Given the description of an element on the screen output the (x, y) to click on. 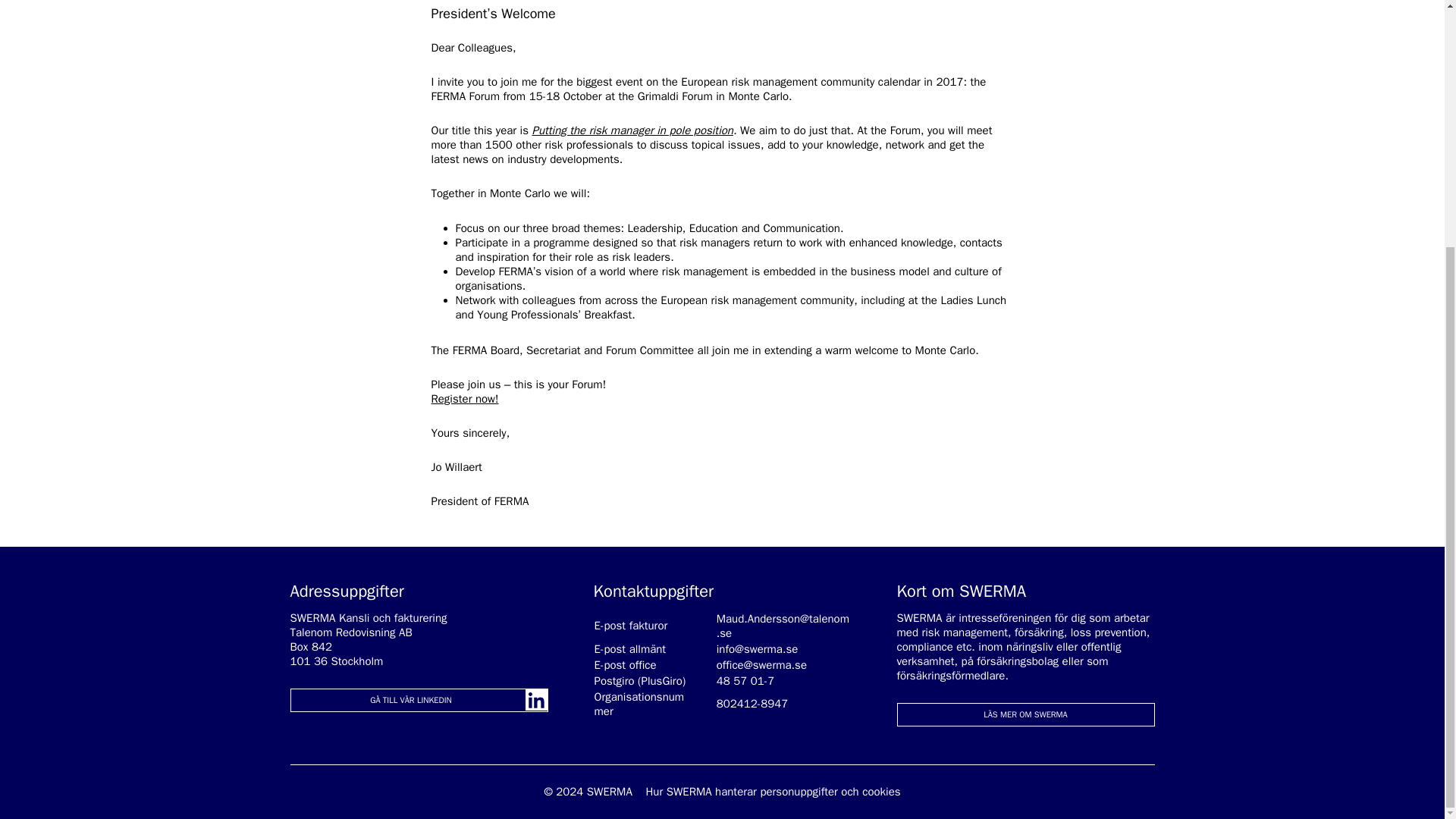
Hur SWERMA hanterar personuppgifter och cookies (772, 791)
Register now! (463, 398)
Hur SWERMA hanterar personuppgifter och cookies (772, 791)
Putting the risk manager in pole position (632, 130)
